Given the description of an element on the screen output the (x, y) to click on. 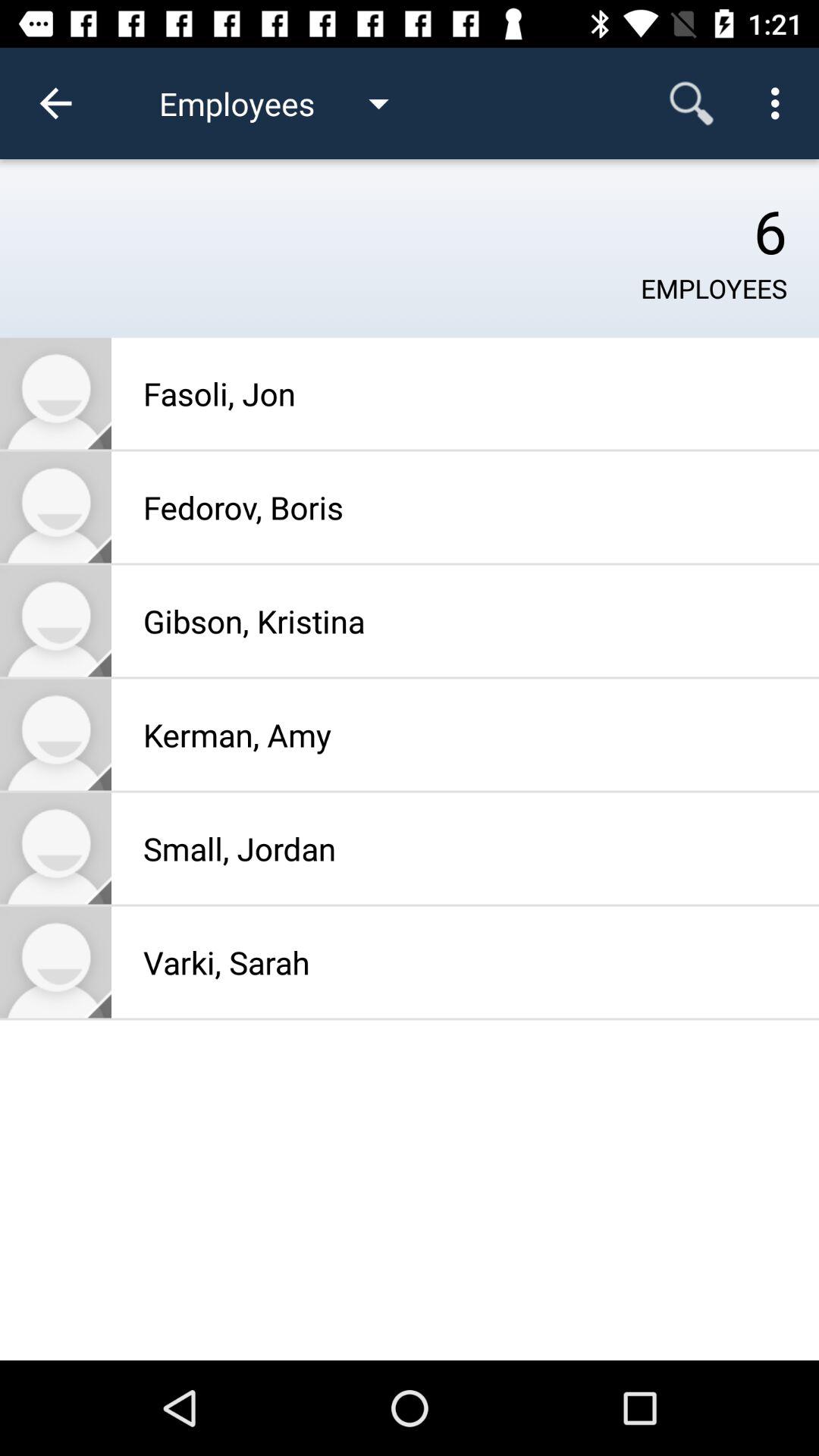
see picture (55, 507)
